Given the description of an element on the screen output the (x, y) to click on. 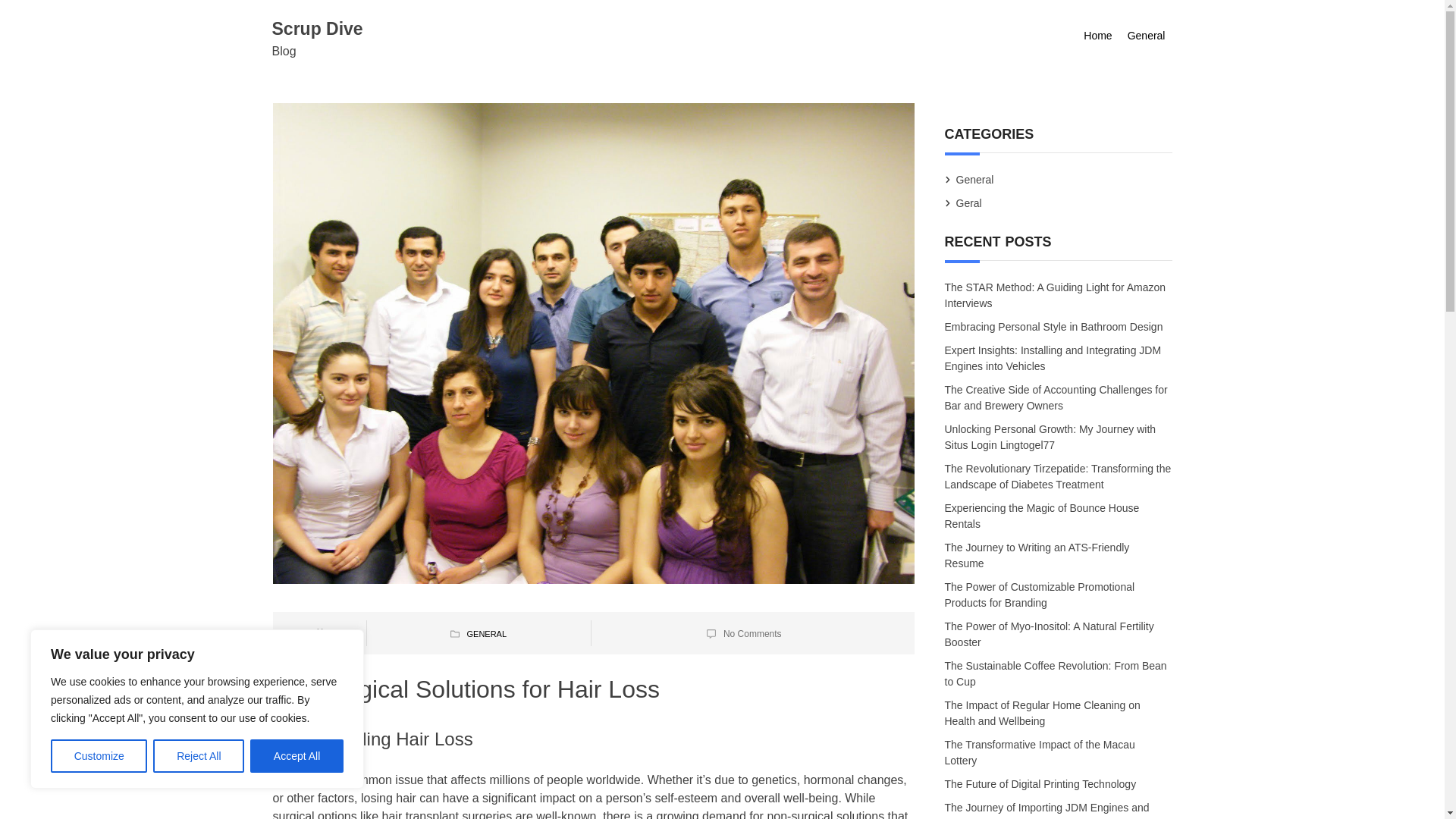
The Journey to Writing an ATS-Friendly Resume (1036, 556)
GENERAL (485, 633)
The STAR Method: A Guiding Light for Amazon Interviews (1055, 295)
Experiencing the Magic of Bounce House Rentals (1042, 516)
General (1146, 35)
Customize (98, 756)
No Comments (752, 633)
Scrup Dive (316, 28)
